Given the description of an element on the screen output the (x, y) to click on. 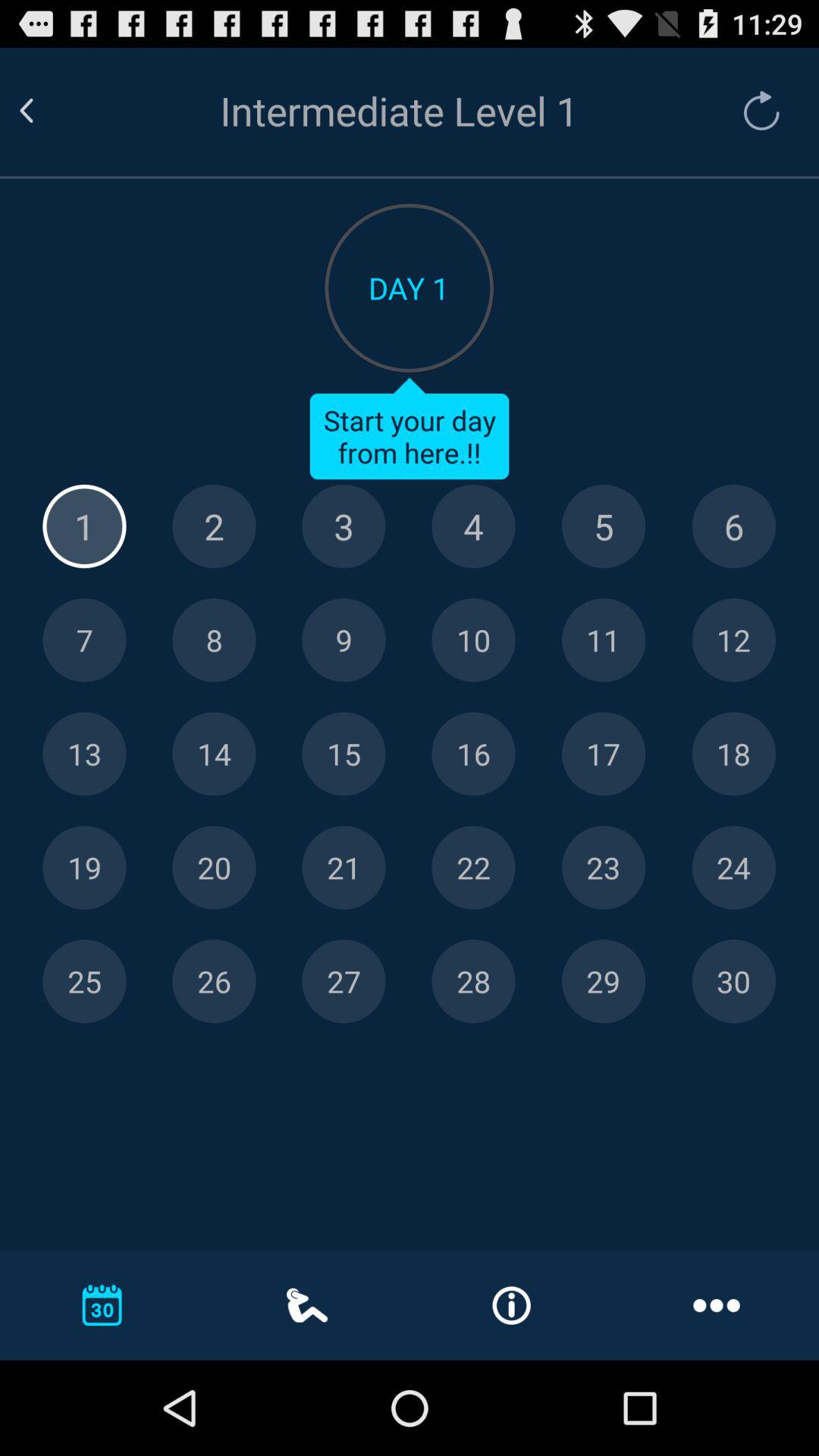
select day 15 (343, 753)
